Given the description of an element on the screen output the (x, y) to click on. 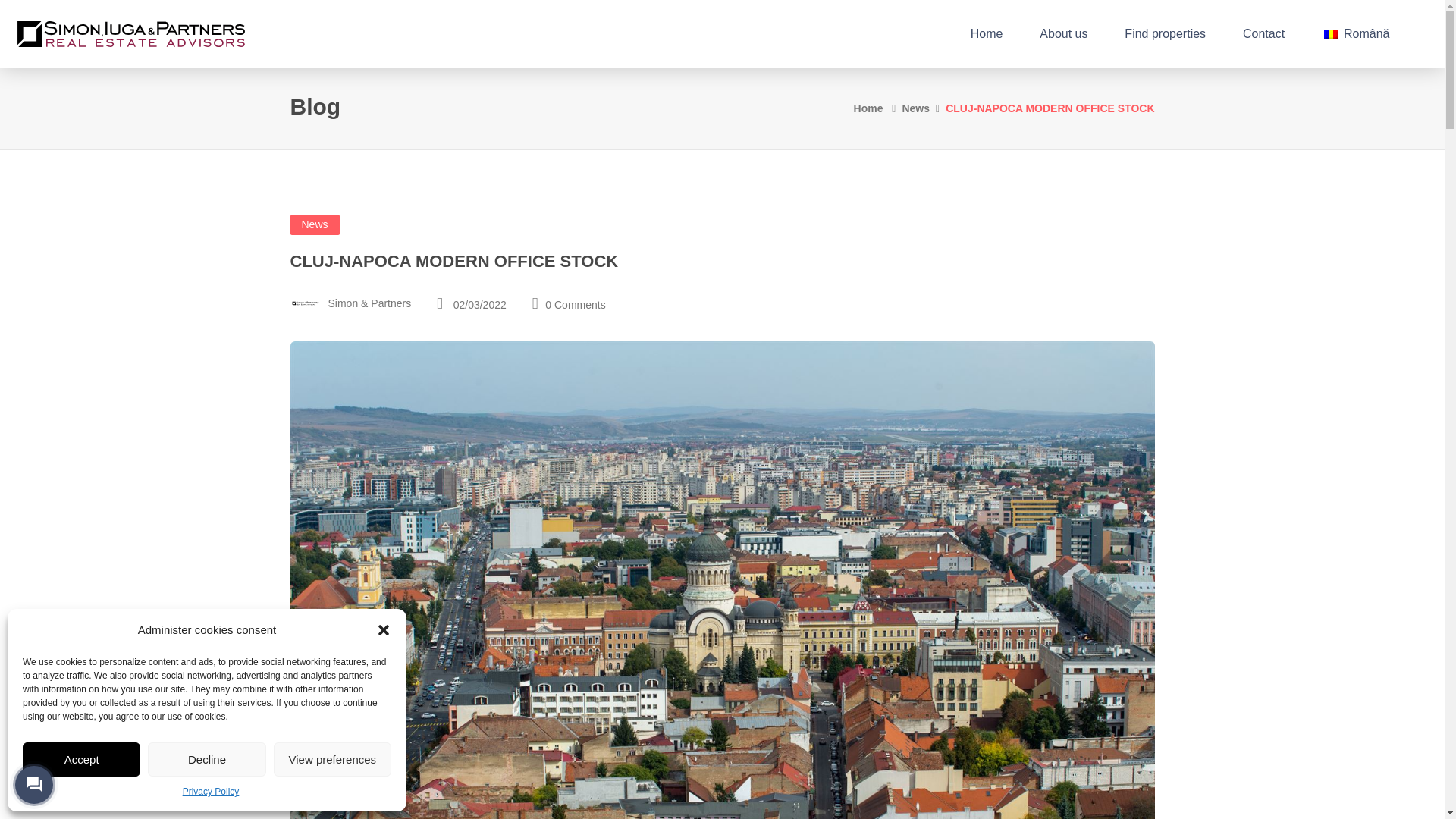
Decline (206, 759)
Find properties (1164, 33)
Accept (81, 759)
Home (868, 108)
Privacy Policy (211, 791)
News (915, 108)
News (314, 224)
View preferences (332, 759)
